Given the description of an element on the screen output the (x, y) to click on. 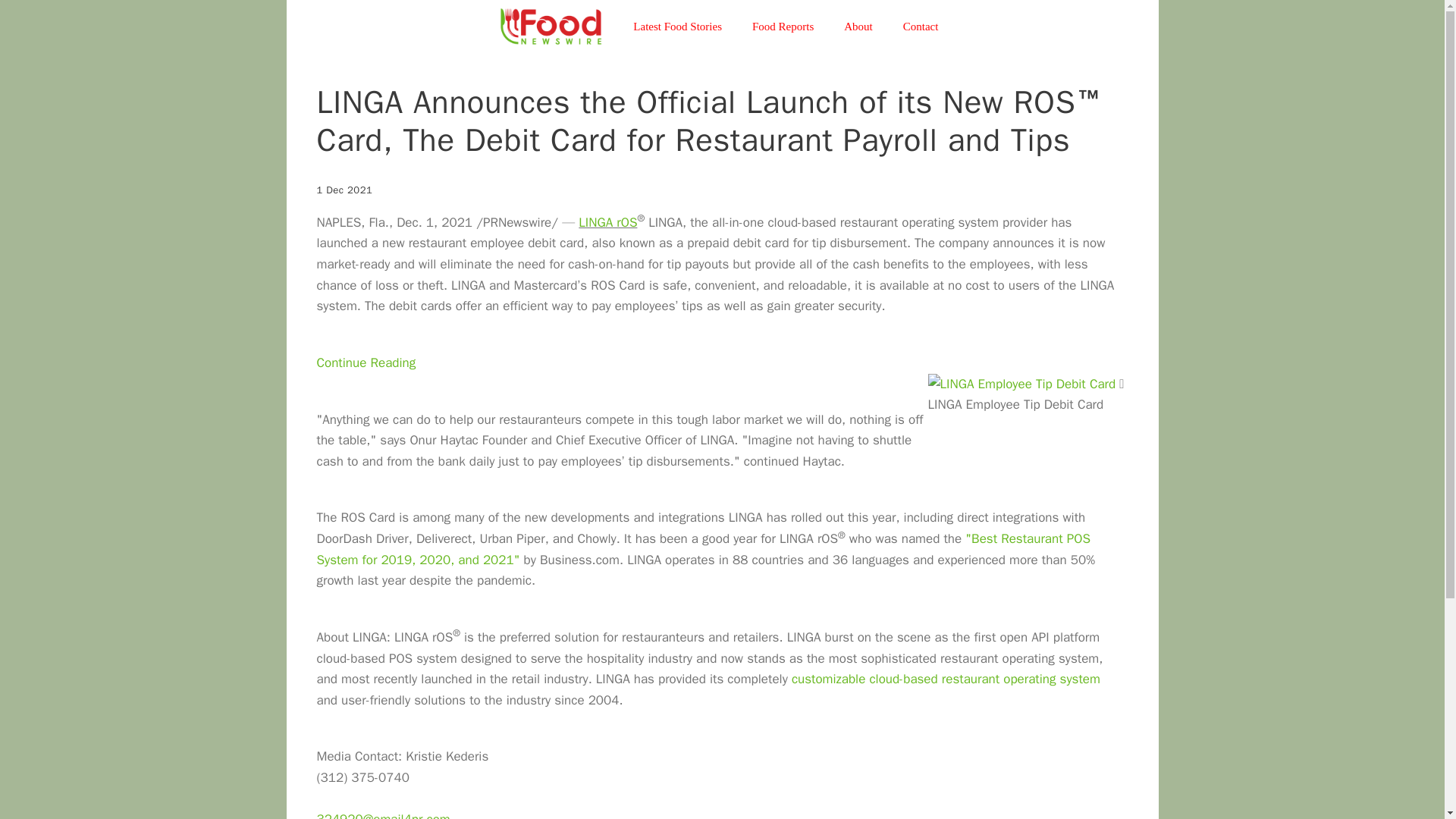
Contact (920, 26)
"Best Restaurant POS System for 2019, 2020, and 2021" (703, 549)
Food Newswire (555, 26)
customizable cloud-based restaurant operating system (946, 678)
About (858, 26)
Food Newswire (551, 26)
Latest Food Stories (676, 26)
Continue Reading (366, 362)
LINGA rOS (607, 222)
Food Reports (782, 26)
